Given the description of an element on the screen output the (x, y) to click on. 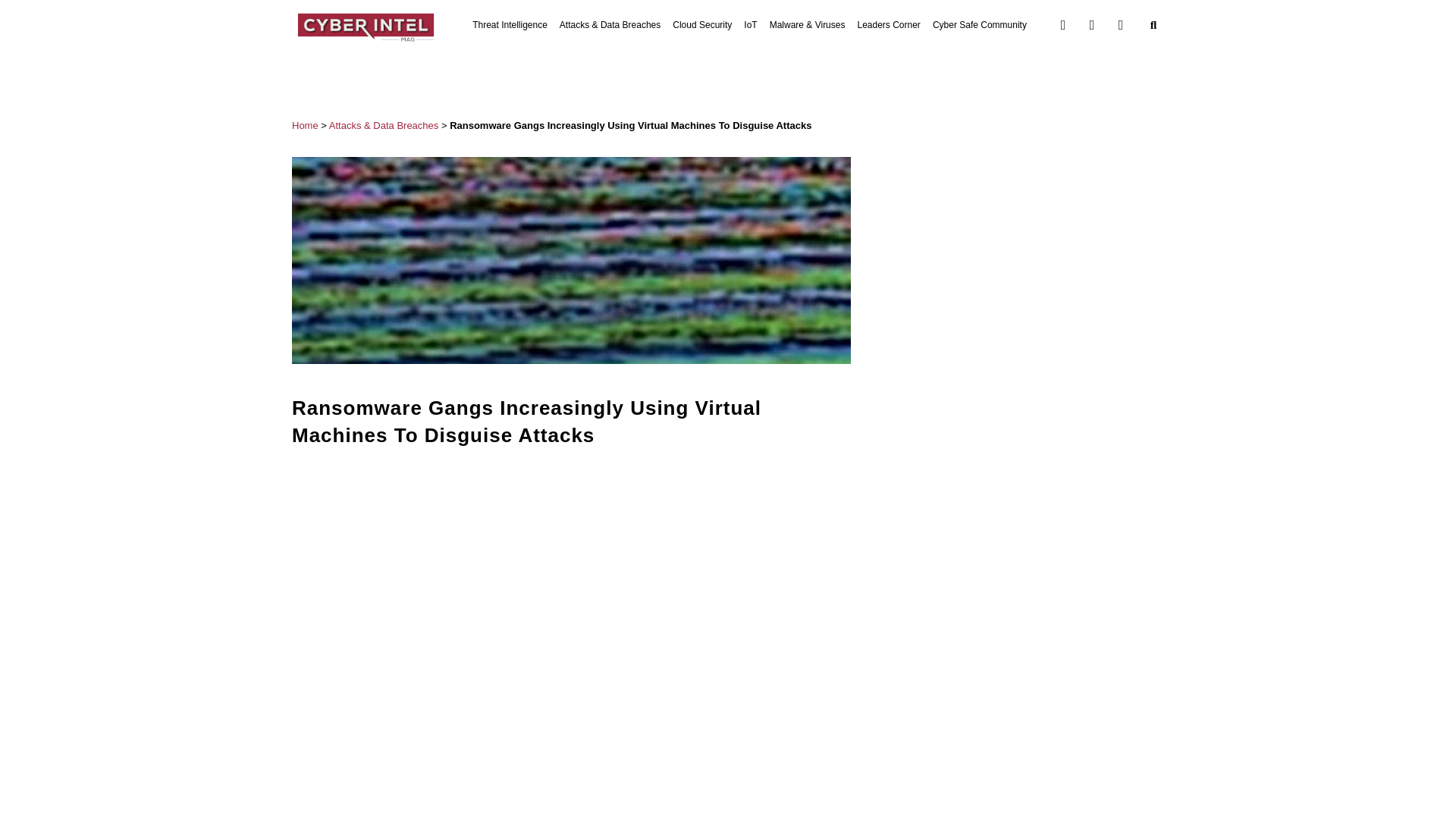
Threat Intelligence (509, 24)
Leaders Corner (888, 24)
Cloud Security (702, 24)
Home (305, 125)
Cyber Safe Community (979, 24)
